Given the description of an element on the screen output the (x, y) to click on. 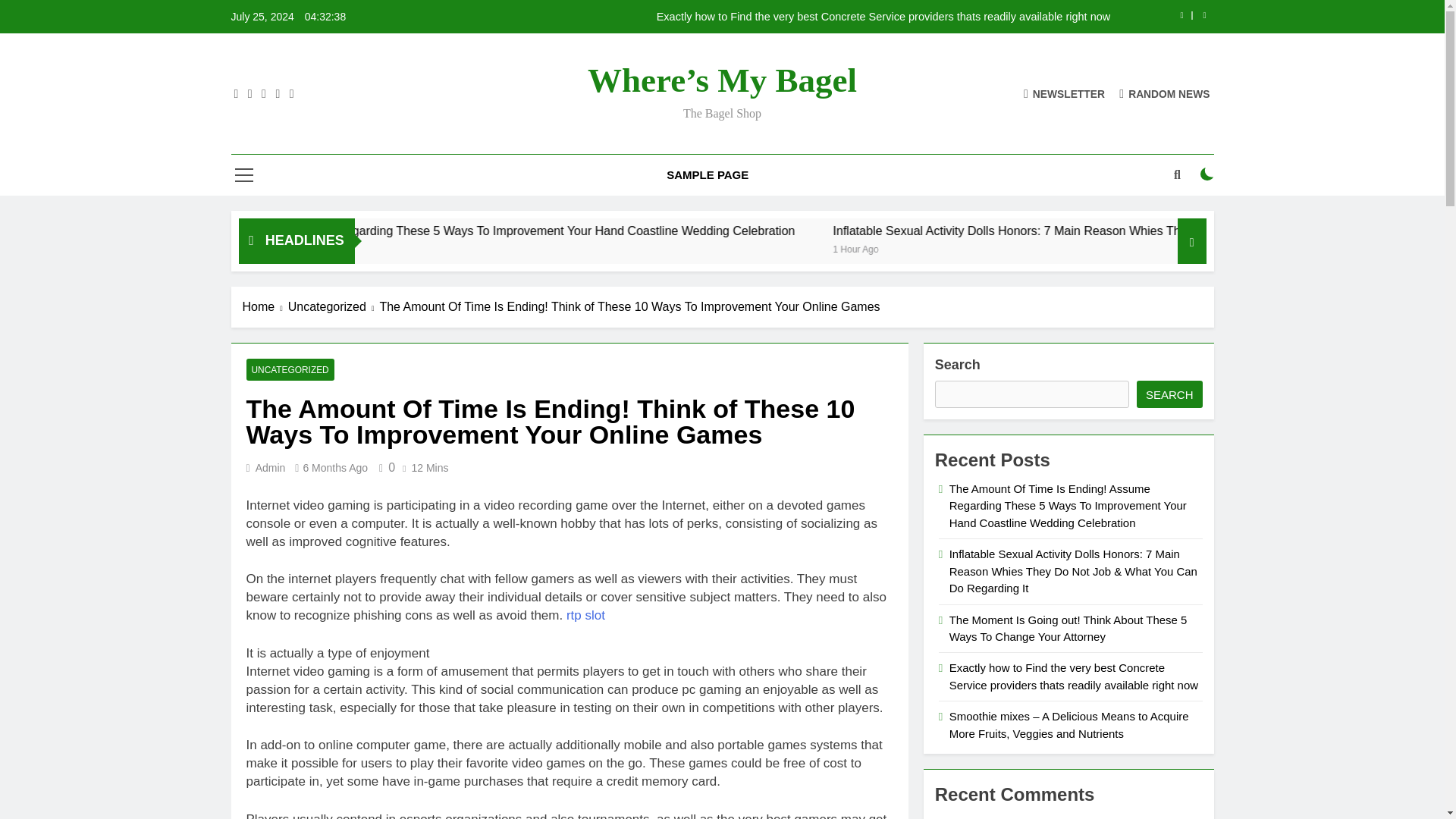
19 Mins Ago (357, 247)
RANDOM NEWS (1164, 92)
on (1206, 173)
1 Hour Ago (1066, 247)
SAMPLE PAGE (707, 174)
NEWSLETTER (1064, 92)
